Given the description of an element on the screen output the (x, y) to click on. 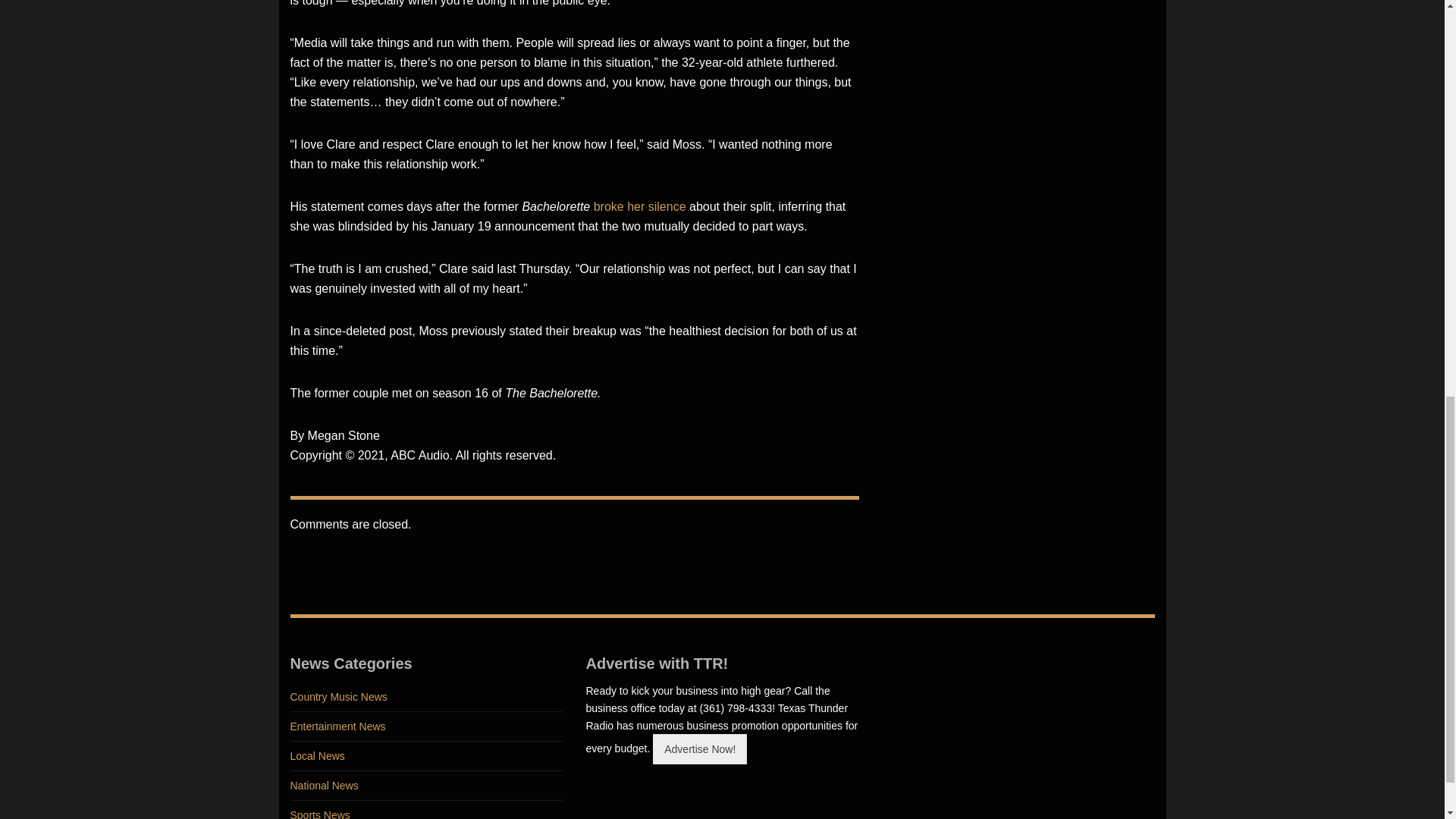
broke her silence (639, 205)
Country Music News (425, 696)
Entertainment News (425, 726)
Local News (425, 756)
